Given the description of an element on the screen output the (x, y) to click on. 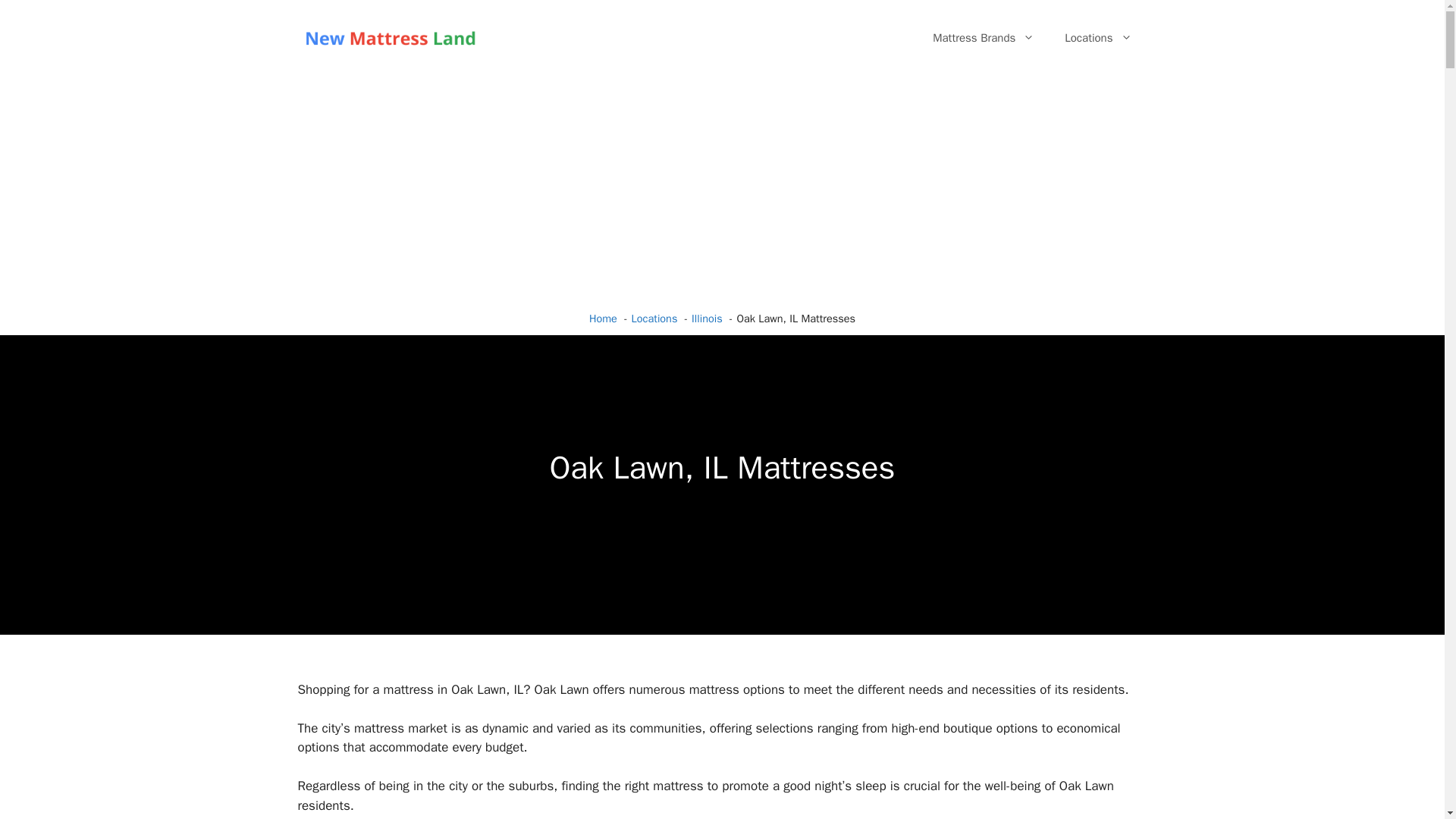
Mattress Brands (983, 37)
Locations (1098, 37)
